Given the description of an element on the screen output the (x, y) to click on. 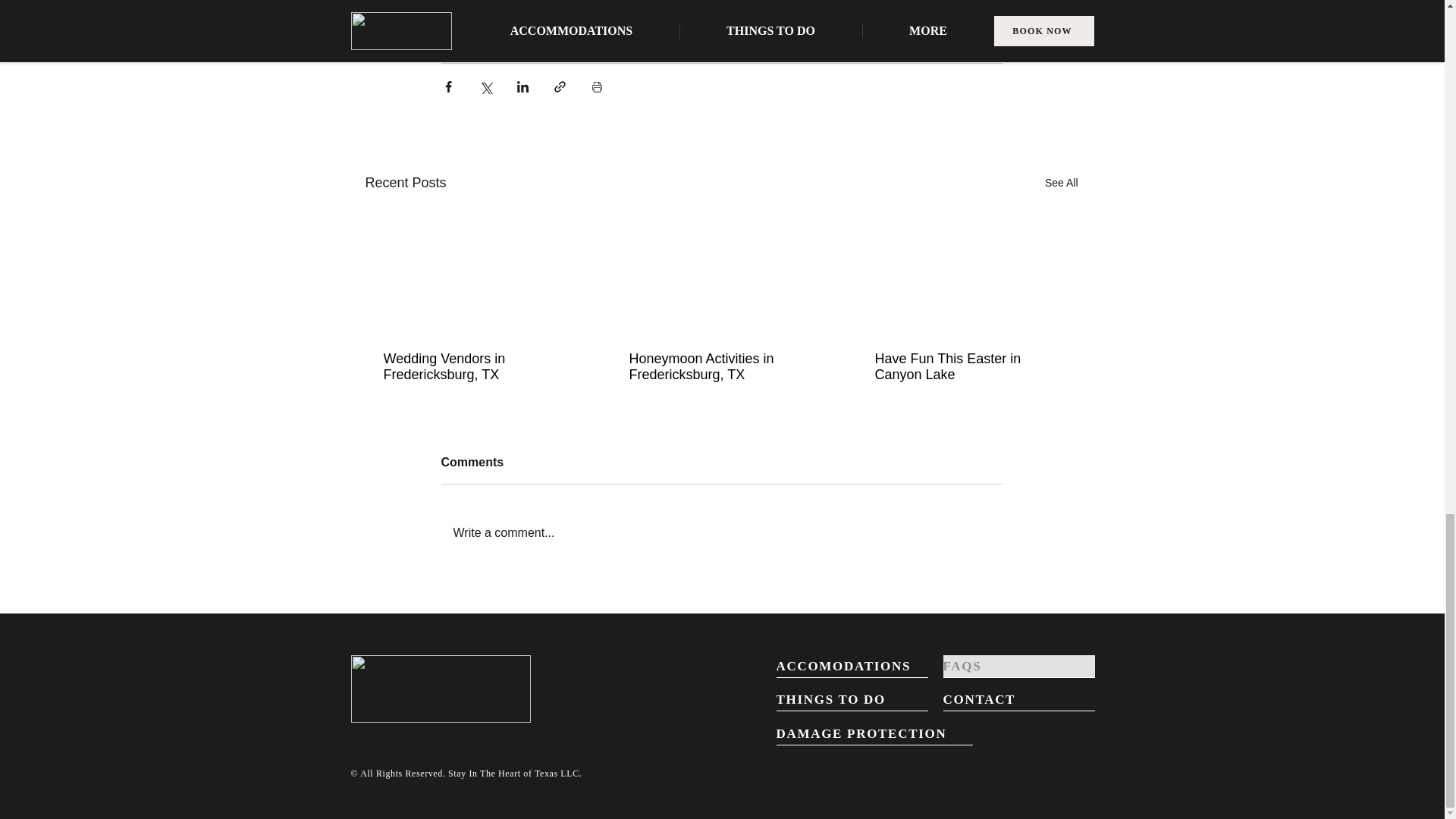
Wedding Vendors in Fredericksburg, TX (475, 367)
Have Fun This Easter in Canyon Lake (966, 367)
Honeymoon Activities in Fredericksburg, TX (720, 367)
See All (1061, 182)
Write a comment... (722, 532)
ACCOMODATIONS (852, 666)
